Given the description of an element on the screen output the (x, y) to click on. 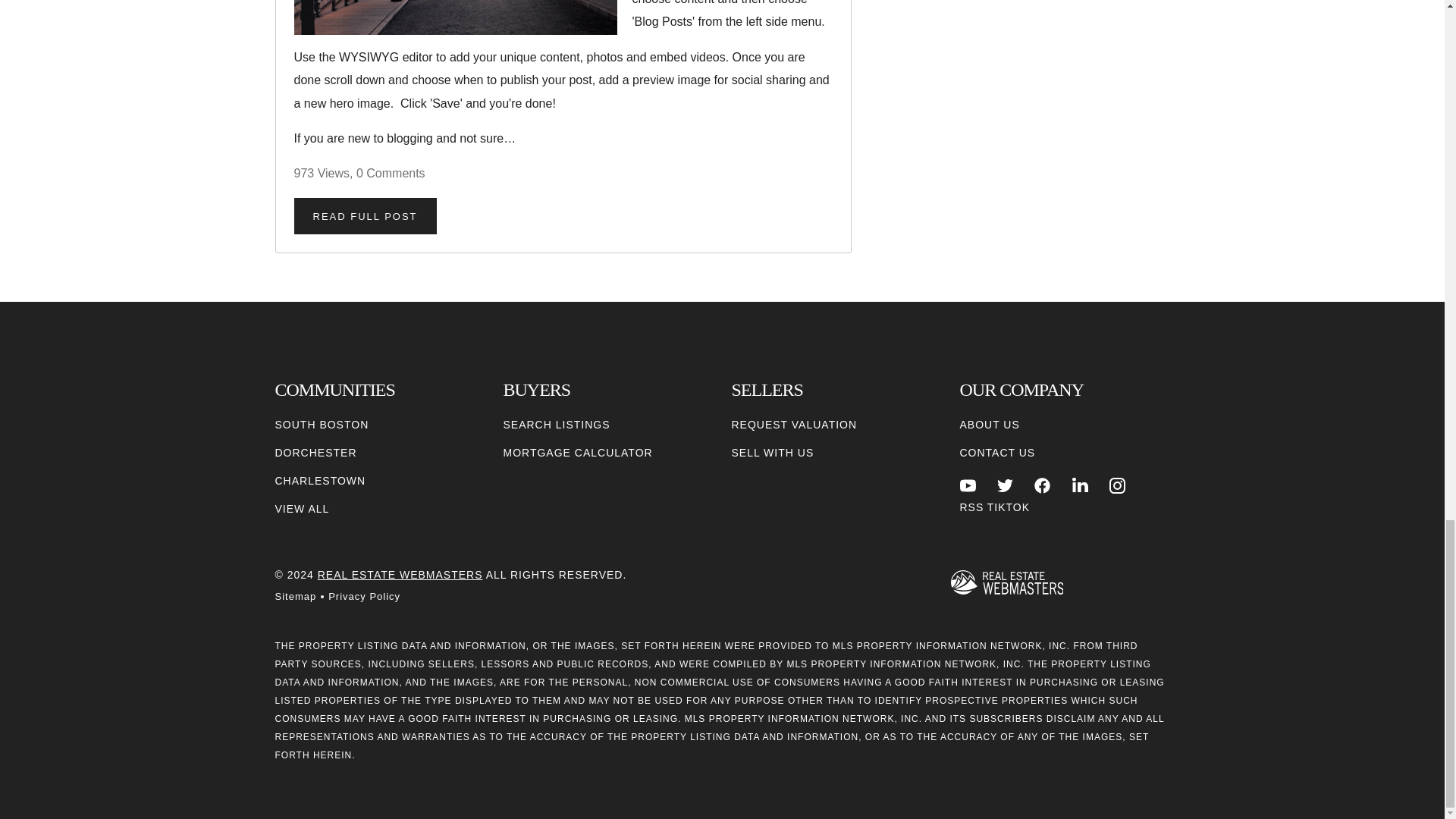
Subscribe to RSS (971, 507)
LINKEDIN (1079, 485)
DORCHESTER (315, 453)
READ FULL POST (365, 216)
YOUTUBE (967, 485)
SOUTH BOSTON (321, 424)
Join me on TikTok (1008, 507)
FACEBOOK (1041, 485)
TWITTER (1005, 485)
CHARLESTOWN (320, 480)
